Given the description of an element on the screen output the (x, y) to click on. 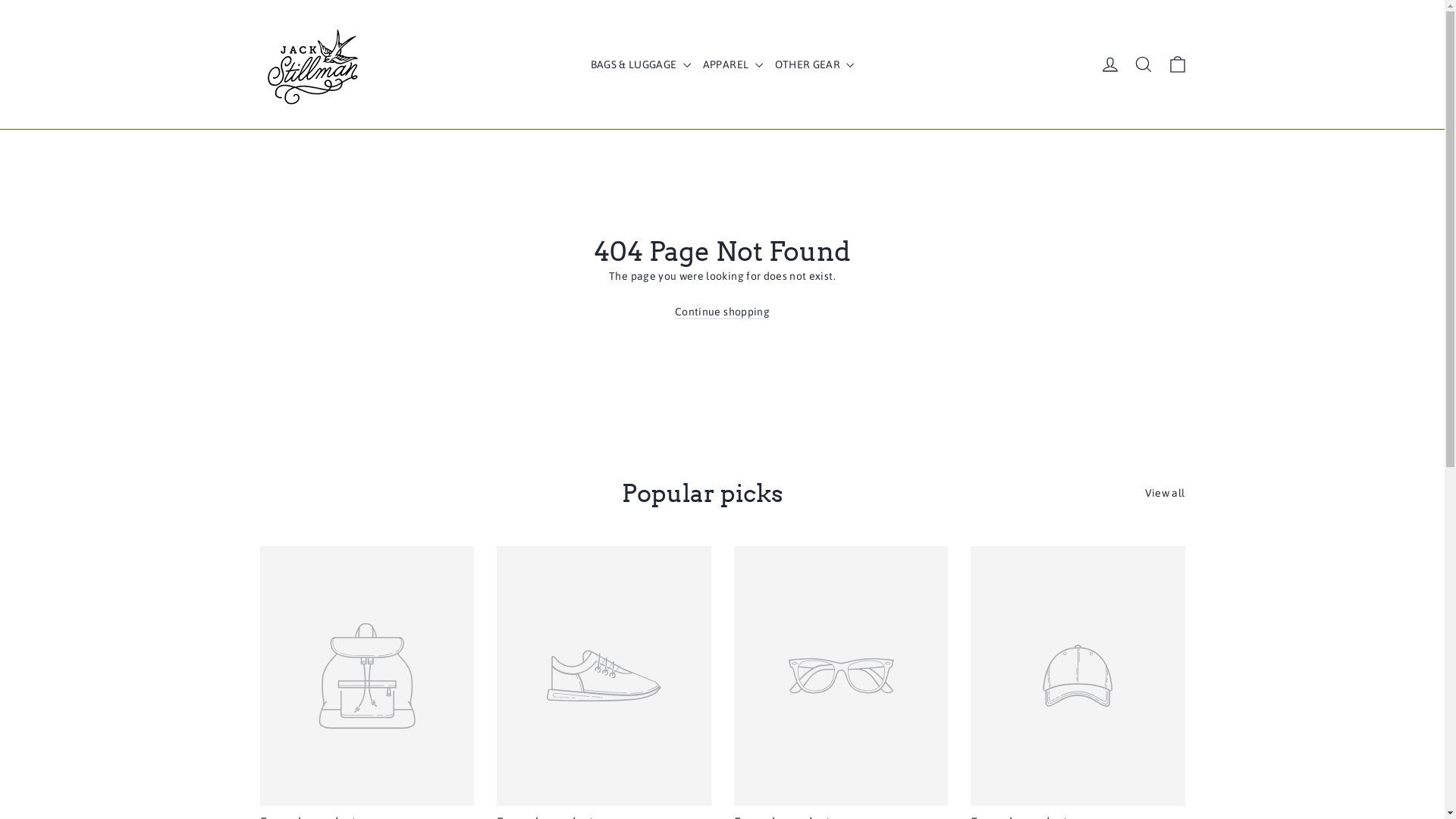
Continue shopping Element type: text (721, 312)
search
Search Element type: text (1143, 64)
cart
Cart Element type: text (1176, 64)
account
Log in Element type: text (1109, 64)
View all Element type: text (1165, 490)
